Given the description of an element on the screen output the (x, y) to click on. 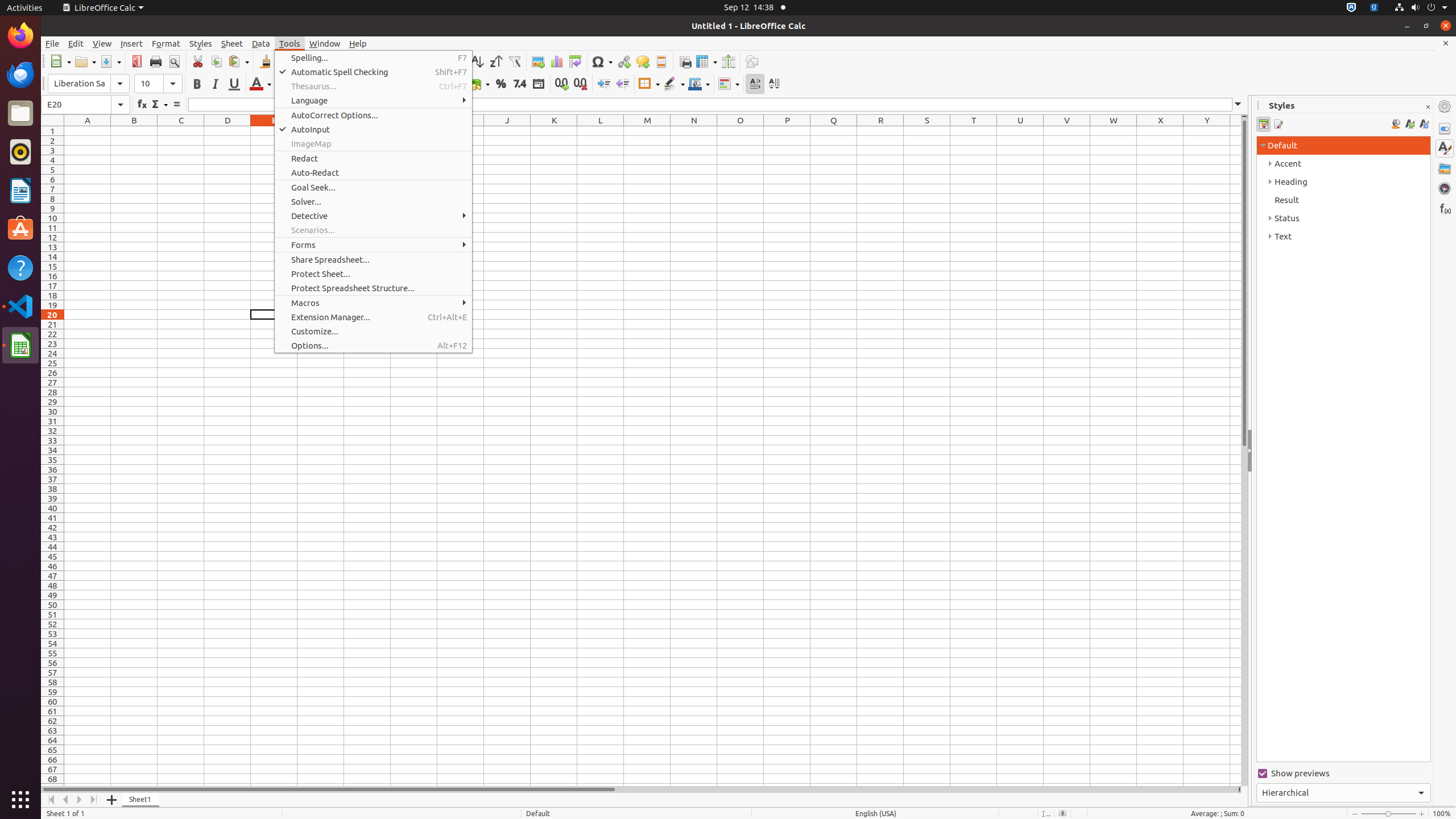
Cut Element type: push-button (197, 61)
B1 Element type: table-cell (133, 130)
Number Element type: push-button (519, 83)
F1 Element type: table-cell (320, 130)
Move Left Element type: push-button (65, 799)
